Given the description of an element on the screen output the (x, y) to click on. 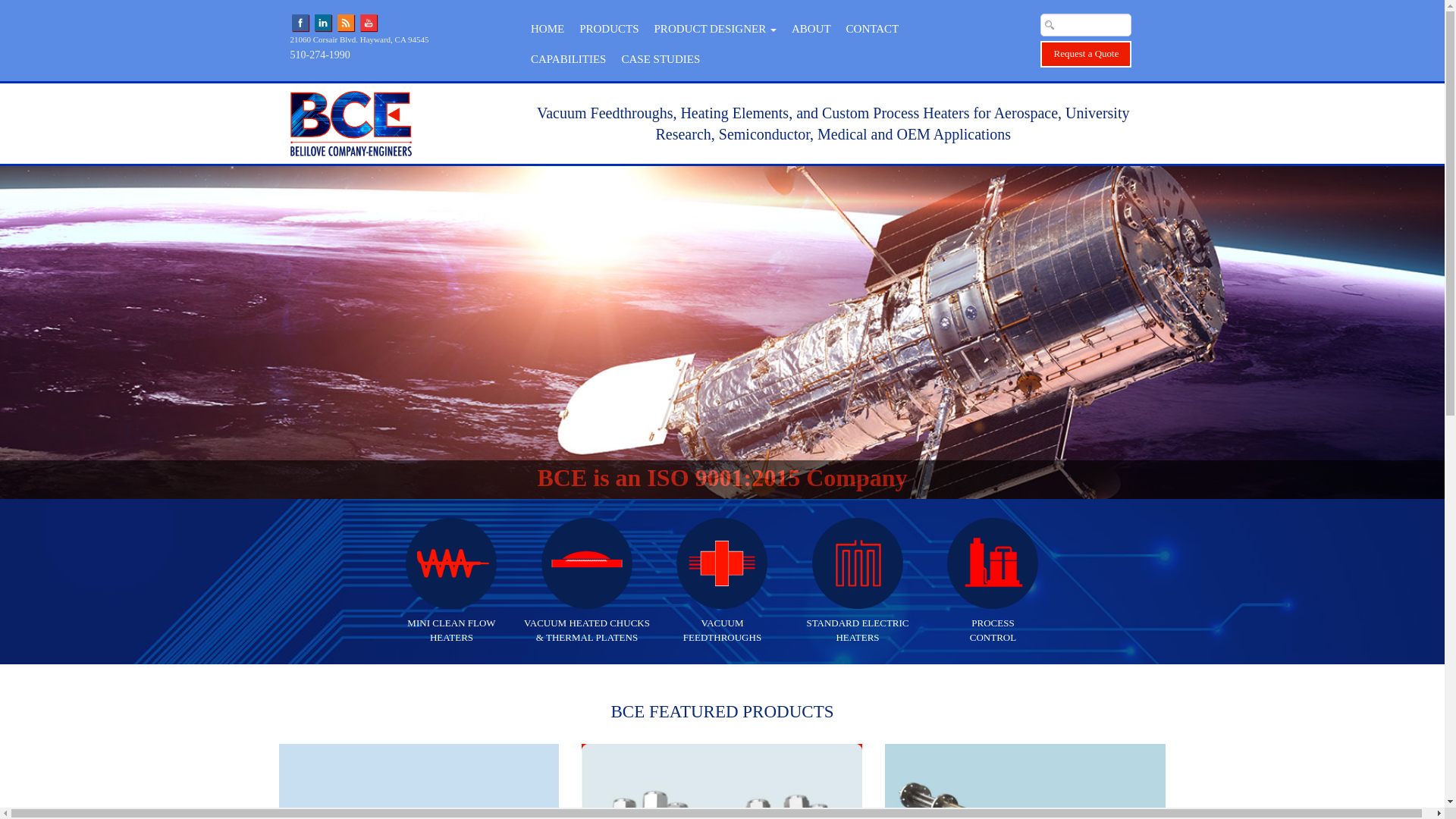
Request a Quote (1086, 53)
510-274-1990 (319, 54)
CONTACT (872, 28)
Capabilities (567, 59)
Products (609, 28)
PRODUCT DESIGNER (715, 28)
Case Studies (659, 59)
ABOUT (451, 580)
Blog (858, 580)
Contact (811, 28)
PRODUCTS (346, 21)
About (872, 28)
